Given the description of an element on the screen output the (x, y) to click on. 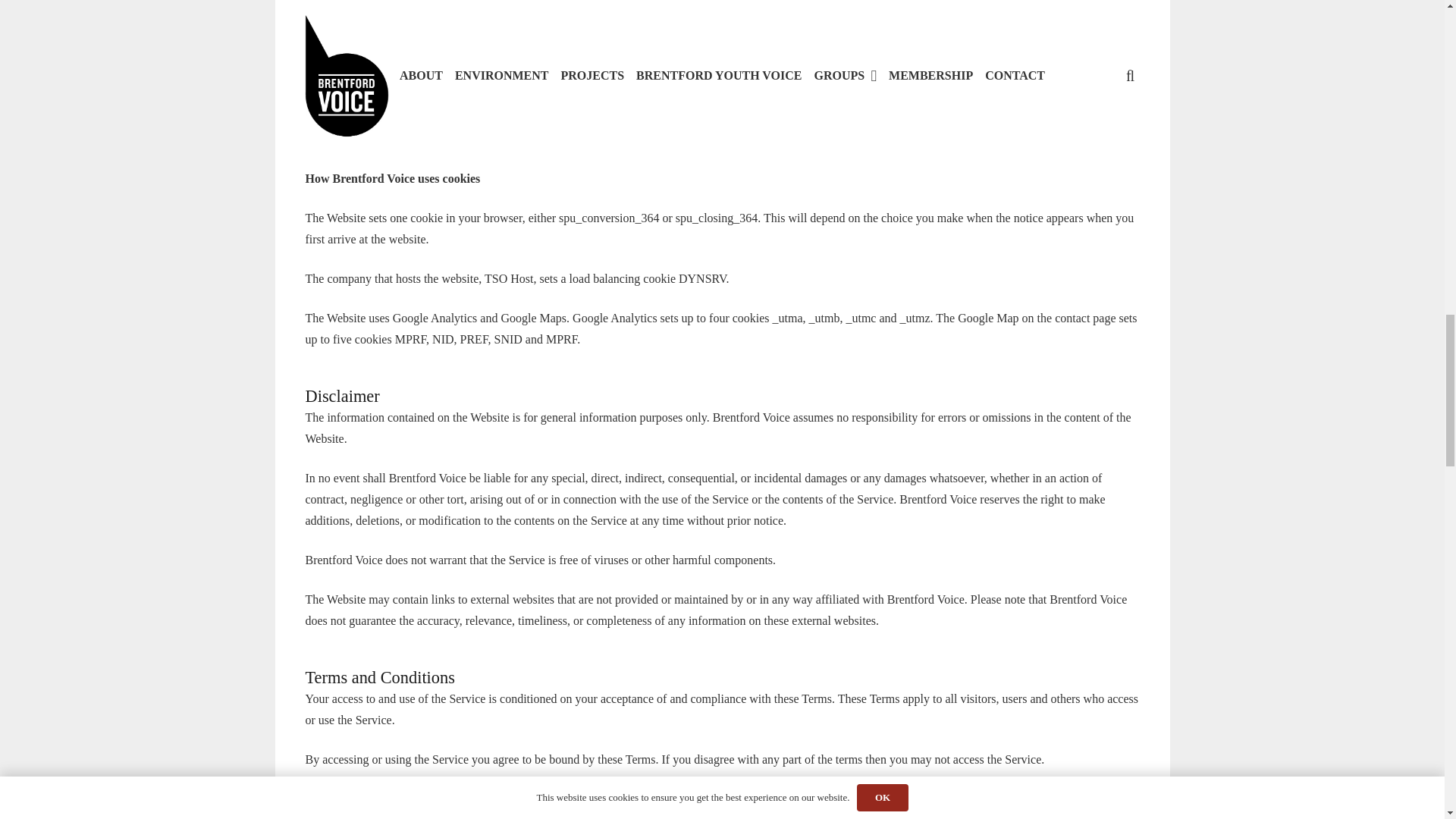
Microsoft (358, 56)
Chrome (354, 29)
Firefox (352, 83)
Safari (349, 111)
